Given the description of an element on the screen output the (x, y) to click on. 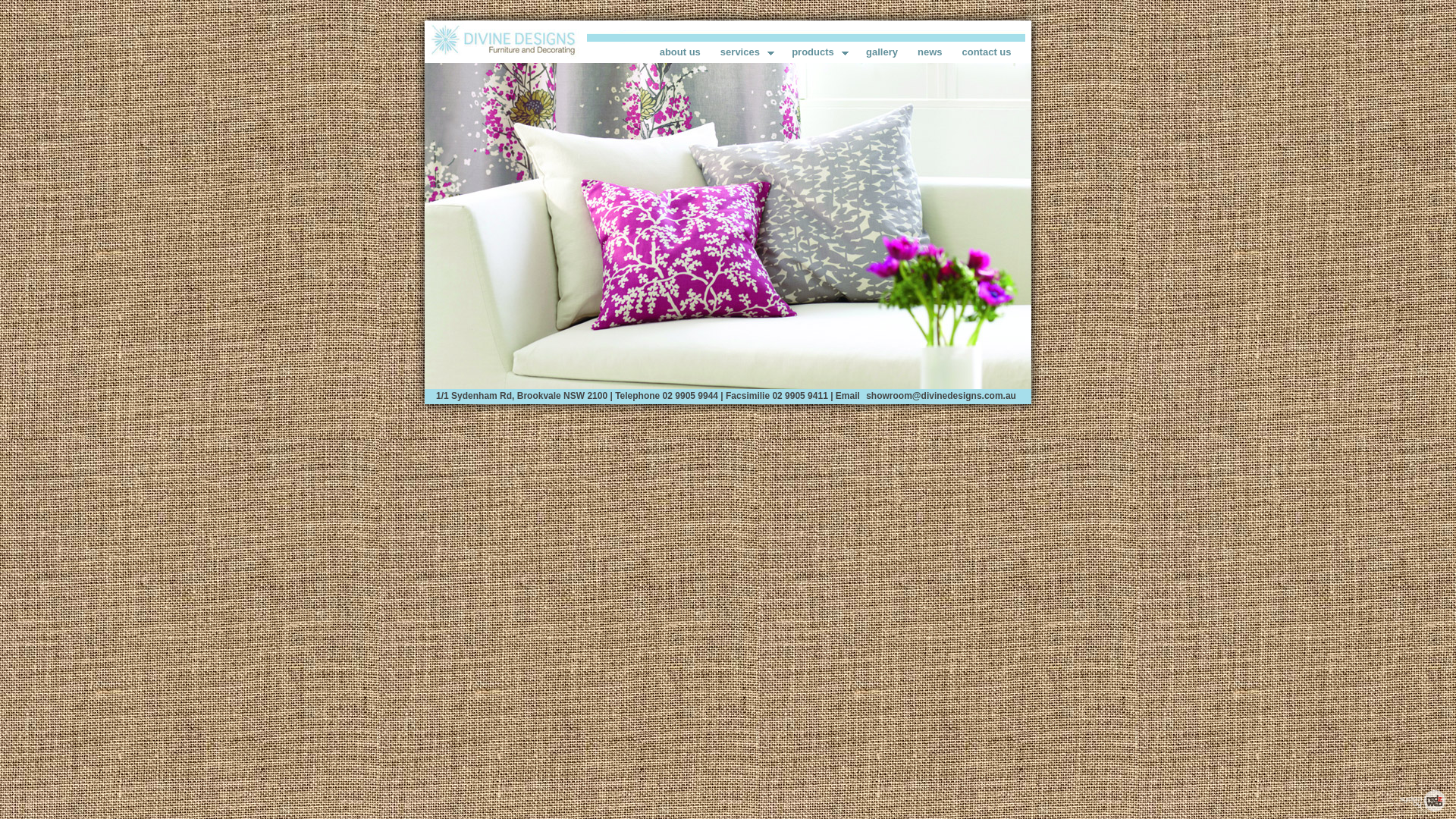
about us Element type: text (679, 51)
products Element type: text (818, 51)
services Element type: text (745, 51)
contact us Element type: text (985, 51)
showroom@divinedesigns.com.au Element type: text (940, 395)
gallery Element type: text (881, 51)
news Element type: text (929, 51)
